Given the description of an element on the screen output the (x, y) to click on. 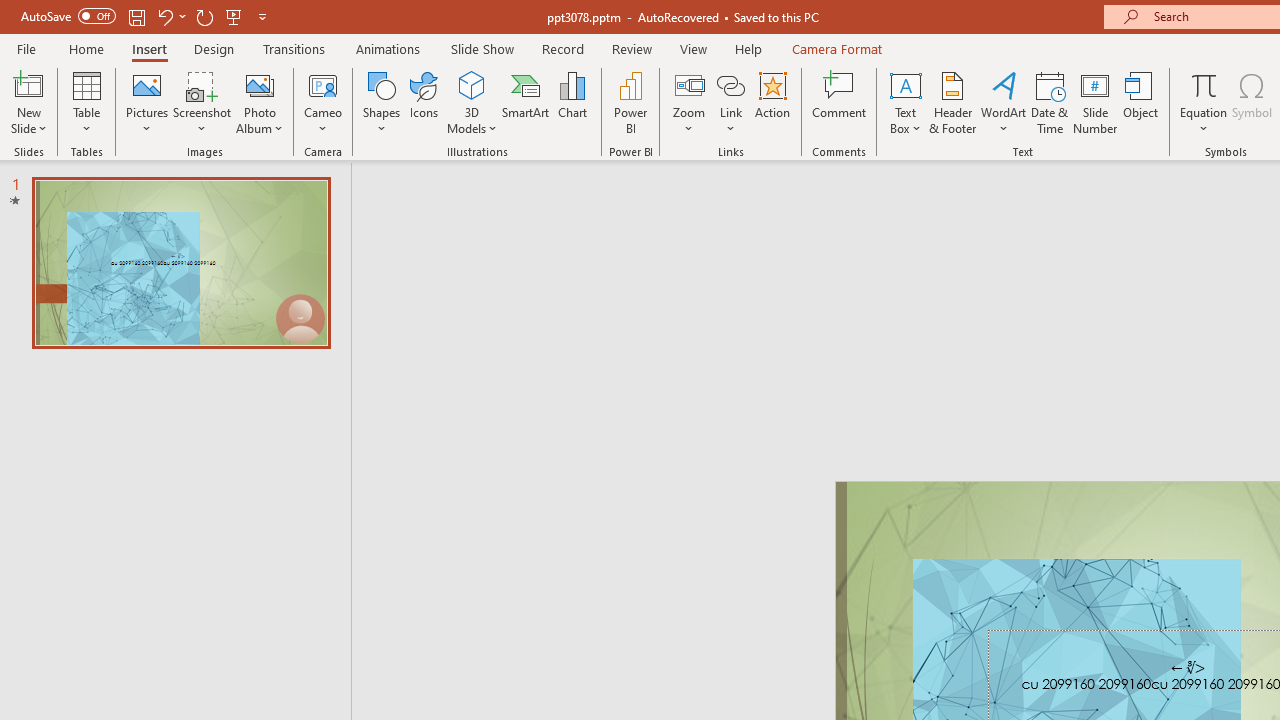
Draw Horizontal Text Box (905, 84)
Power BI (630, 102)
Equation (1203, 84)
Symbol... (1252, 102)
SmartArt... (525, 102)
Shapes (381, 102)
Link (731, 84)
Link (731, 102)
